Given the description of an element on the screen output the (x, y) to click on. 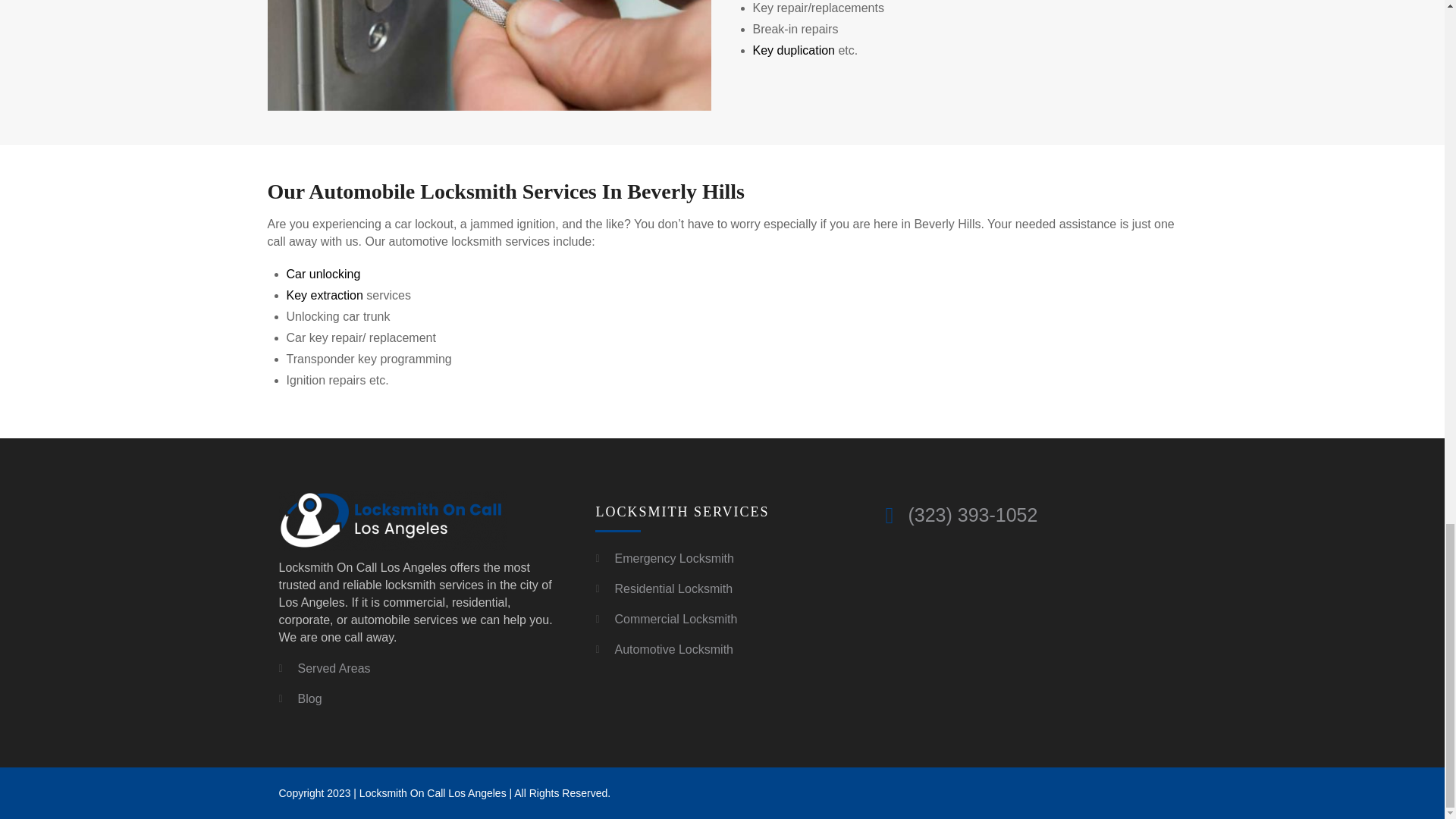
Key extraction (324, 295)
Car unlocking (323, 273)
Commercial Locksmith (675, 618)
Emergency Locksmith (673, 558)
Our Residential Locksmiths (488, 55)
Key duplication (793, 50)
Blog (309, 698)
Residential Locksmith (673, 588)
Served Areas (333, 667)
Automotive Locksmith (673, 649)
